Given the description of an element on the screen output the (x, y) to click on. 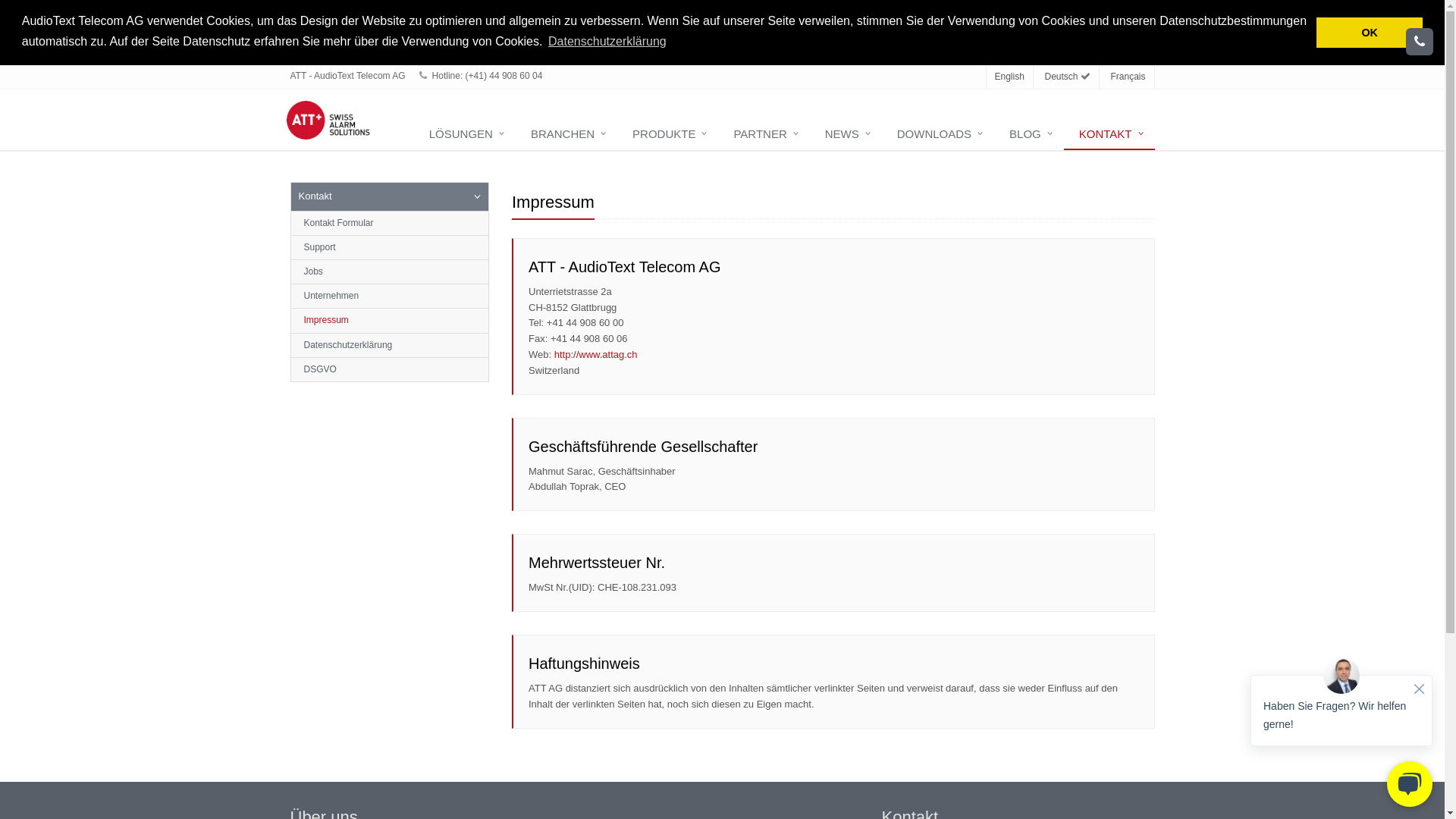
Support Element type: text (390, 247)
DOWNLOADS Element type: text (937, 134)
Unternehmen Element type: text (390, 295)
Deutsch Element type: text (1067, 76)
http://www.attag.ch Element type: text (595, 354)
KONTAKT Element type: text (1108, 134)
English Element type: text (1009, 76)
Impressum Element type: text (390, 319)
BLOG Element type: text (1028, 134)
Jobs Element type: text (390, 271)
PRODUKTE Element type: text (667, 134)
Kontakt Element type: text (390, 196)
DSGVO Element type: text (390, 369)
PARTNER Element type: text (763, 134)
BRANCHEN Element type: text (566, 134)
Kontakt Formular Element type: text (390, 222)
OK Element type: text (1369, 32)
NEWS Element type: text (845, 134)
